Given the description of an element on the screen output the (x, y) to click on. 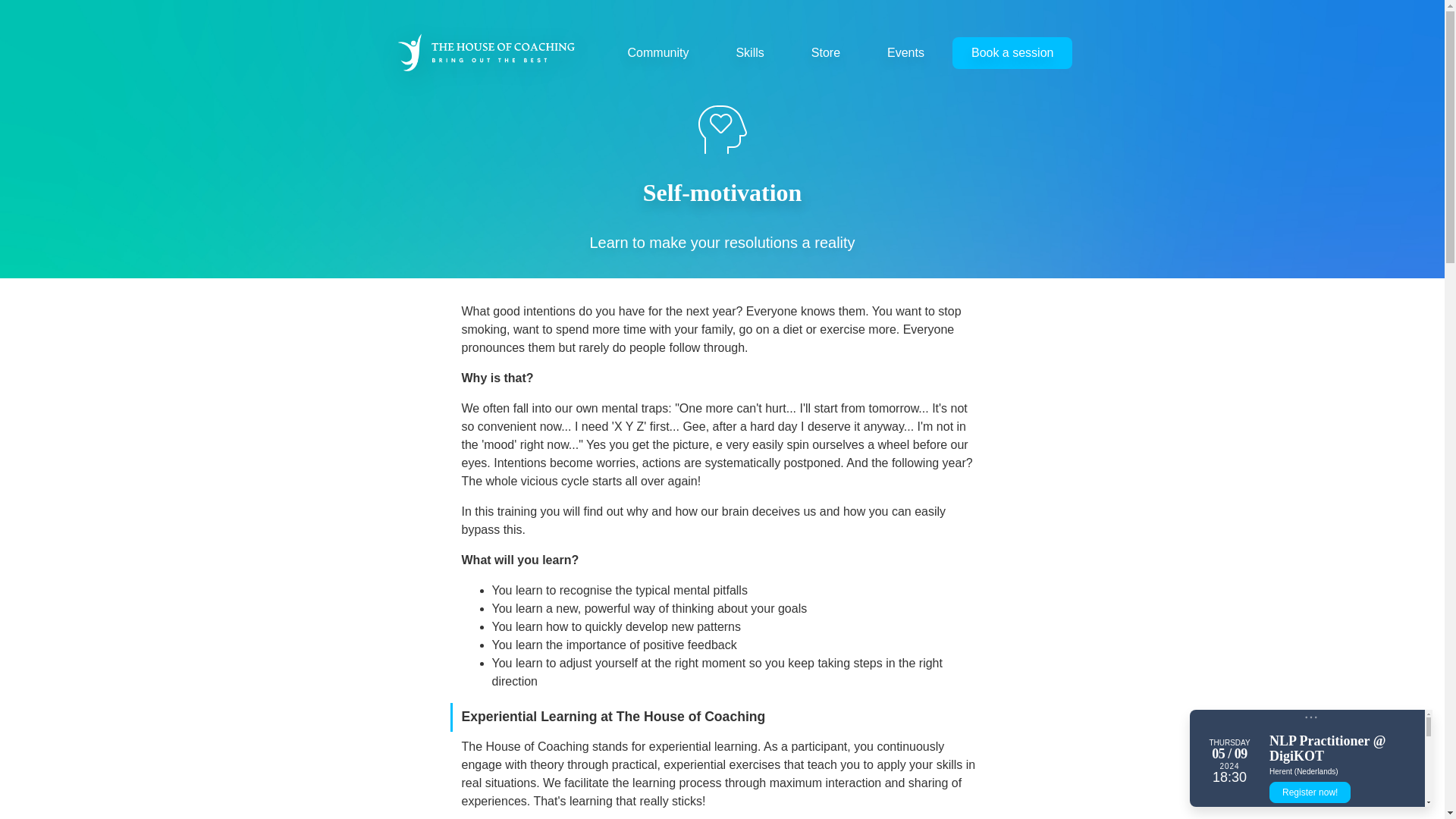
Book a session (1012, 51)
Events (905, 51)
Community (657, 51)
Skills (749, 51)
Store (825, 51)
